Given the description of an element on the screen output the (x, y) to click on. 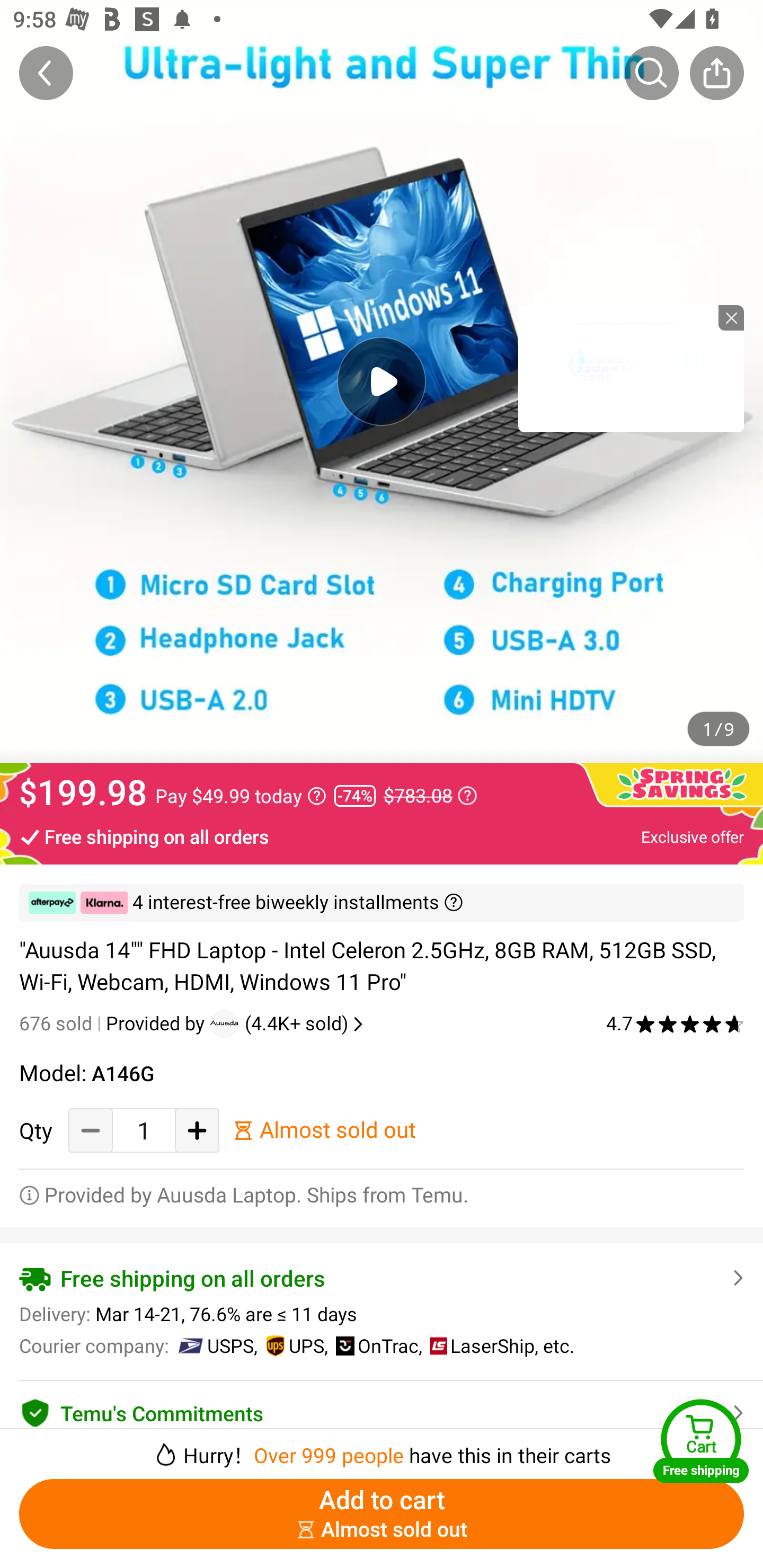
Back (46, 72)
Share (716, 72)
tronplayer_view (631, 368)
Pay $49.99 today   (240, 795)
Free shipping on all orders Exclusive offer (381, 836)
￼ ￼ 4 interest-free biweekly installments ￼ (381, 902)
676 sold Provided by  (114, 1023)
4.7 (674, 1023)
Decrease Quantity Button (90, 1130)
1 (143, 1130)
Add Quantity button (196, 1130)
Temu's Commitments (381, 1410)
Cart Free shipping Cart (701, 1440)
￼￼Hurry！Over 999 people have this in their carts (381, 1448)
Add to cart ￼￼Almost sold out (381, 1513)
